Given the description of an element on the screen output the (x, y) to click on. 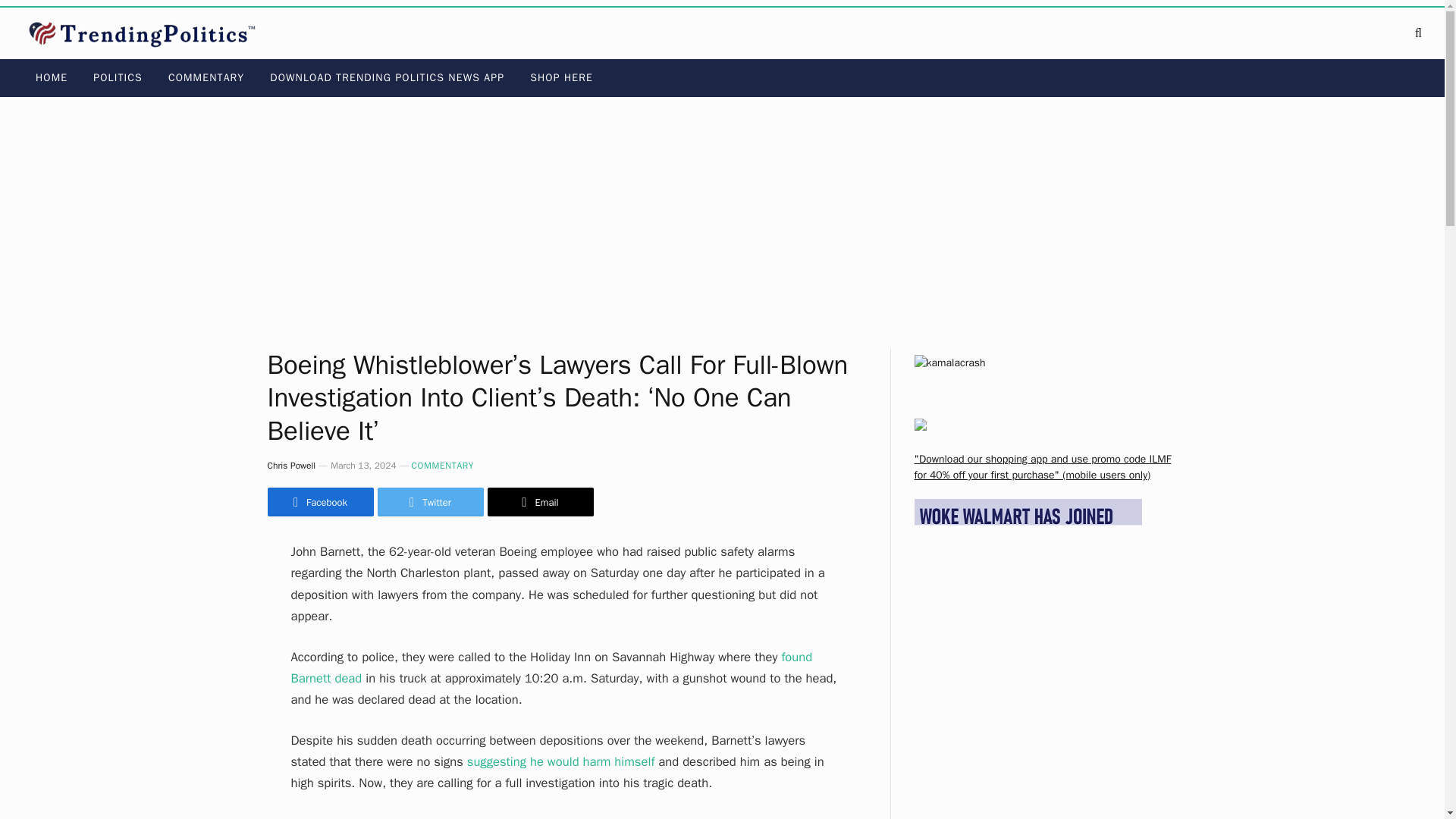
SHOP HERE (560, 77)
POLITICS (117, 77)
COMMENTARY (443, 465)
Trending Politics Conservative News and Commentary (145, 32)
HOME (51, 77)
found Barnett dead (551, 667)
Chris Powell (290, 465)
Posts by Chris Powell (290, 465)
suggesting he would harm himself (561, 761)
